Given the description of an element on the screen output the (x, y) to click on. 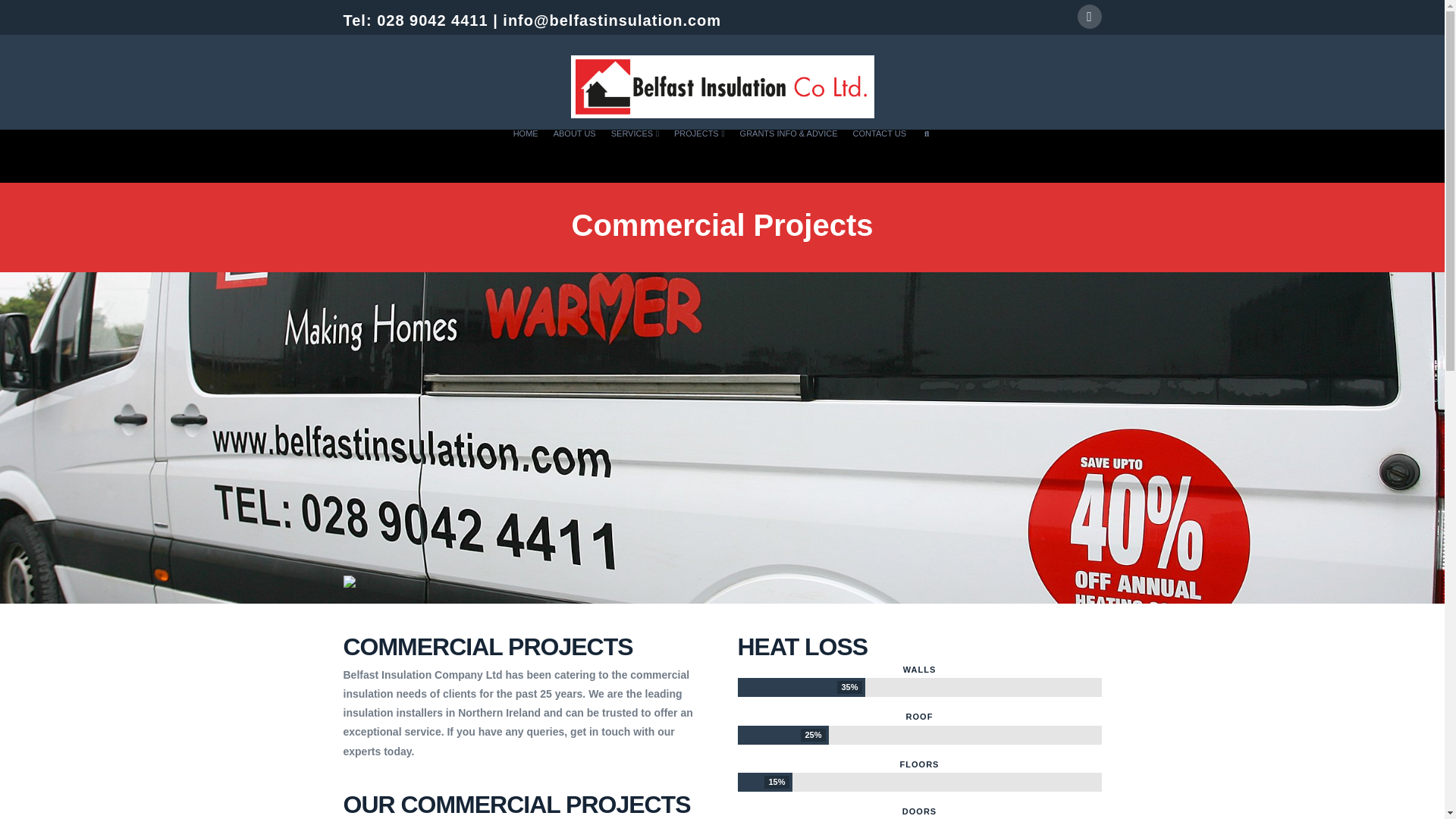
SERVICES (635, 155)
Facebook (1088, 16)
Tel: 028 9042 4411 (414, 20)
CONTACT US (879, 155)
PROJECTS (699, 155)
ABOUT US (575, 155)
